Given the description of an element on the screen output the (x, y) to click on. 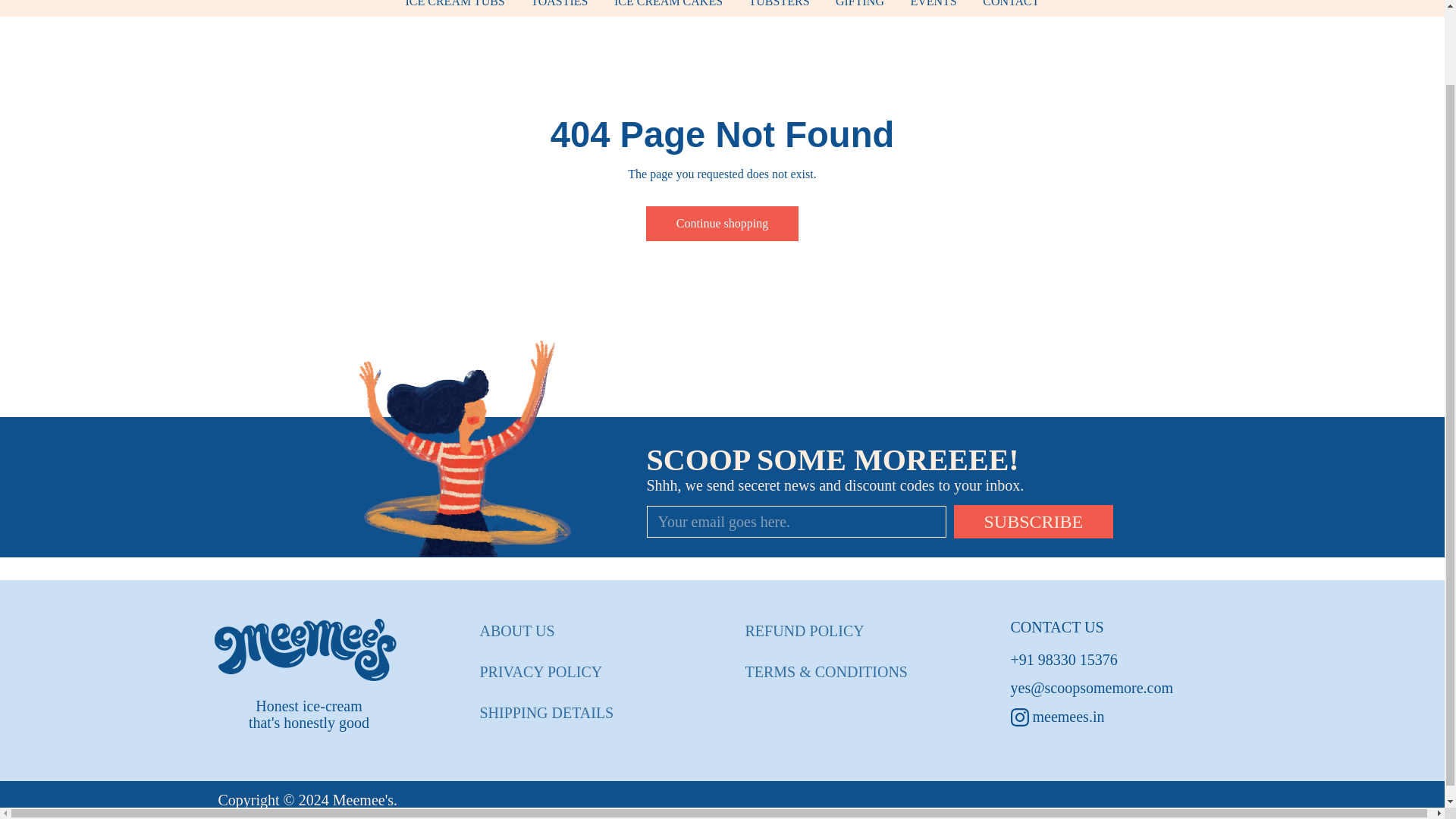
ABOUT US (516, 630)
SHIPPING DETAILS (545, 712)
Continue shopping (721, 223)
SUBSCRIBE (1032, 521)
PRIVACY POLICY (540, 671)
REFUND POLICY (803, 630)
TOASTIES (558, 8)
EVENTS (933, 8)
ICE CREAM TUBS (454, 8)
TUBSTERS (779, 8)
GIFTING (859, 8)
CONTACT (1010, 8)
ICE CREAM CAKES (667, 8)
